Given the description of an element on the screen output the (x, y) to click on. 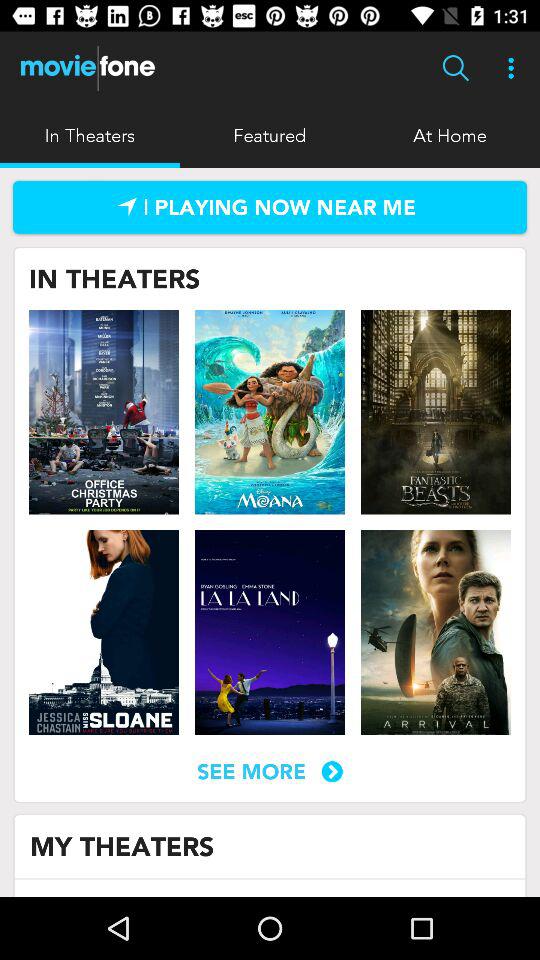
discover more music (269, 207)
